Given the description of an element on the screen output the (x, y) to click on. 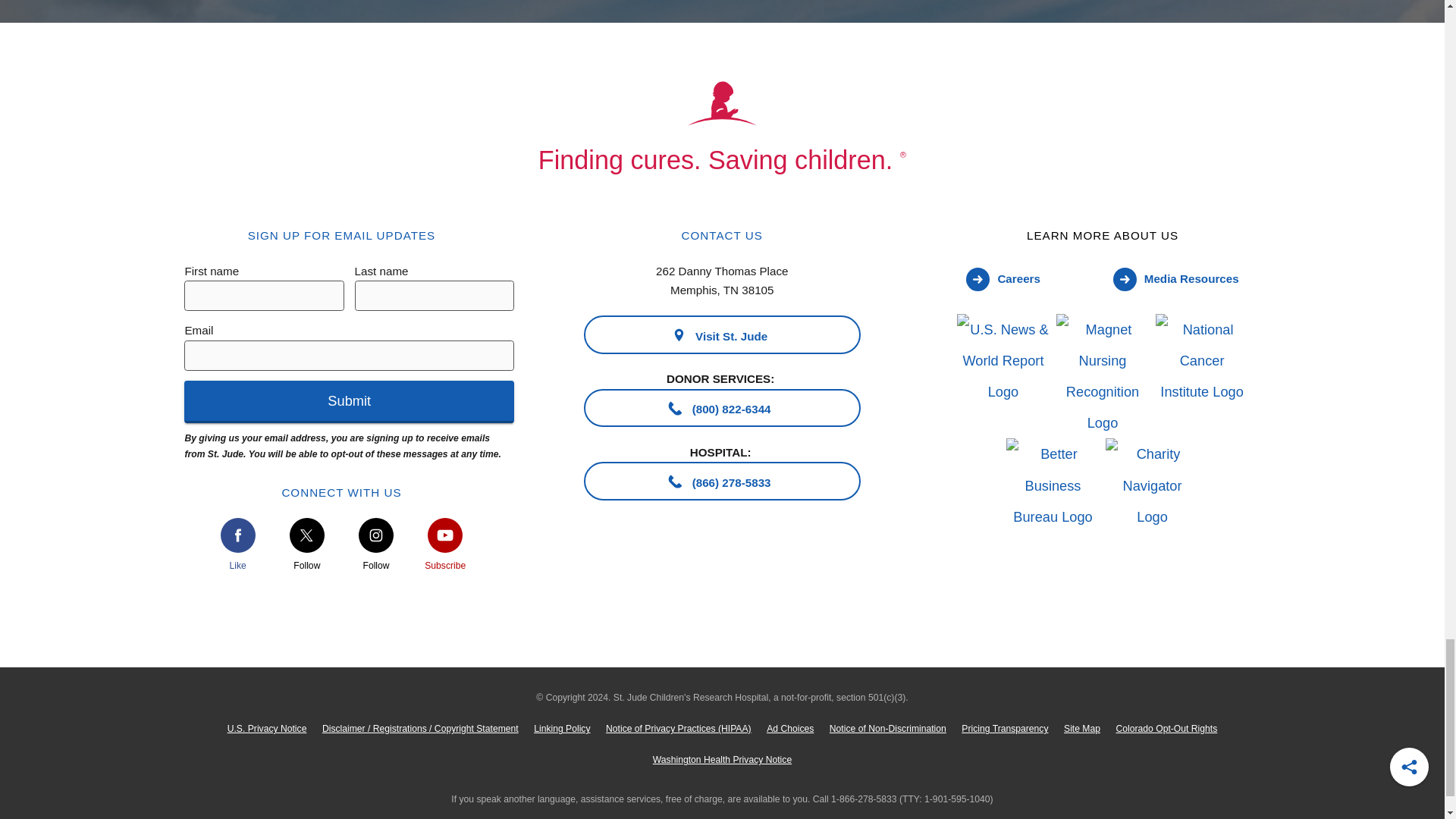
Visit St. Jude (721, 333)
Pricing Transparency (1005, 728)
Media Resources (1176, 280)
Careers (1003, 280)
Colorado Opt-Out Rights (1166, 728)
Linking Policy (561, 728)
Washington Health Privacy Notice (722, 759)
Site Map (1082, 728)
U.S. Privacy Notice (266, 728)
Notice of Non-Discrimination (888, 728)
Ad Choices (790, 728)
